Given the description of an element on the screen output the (x, y) to click on. 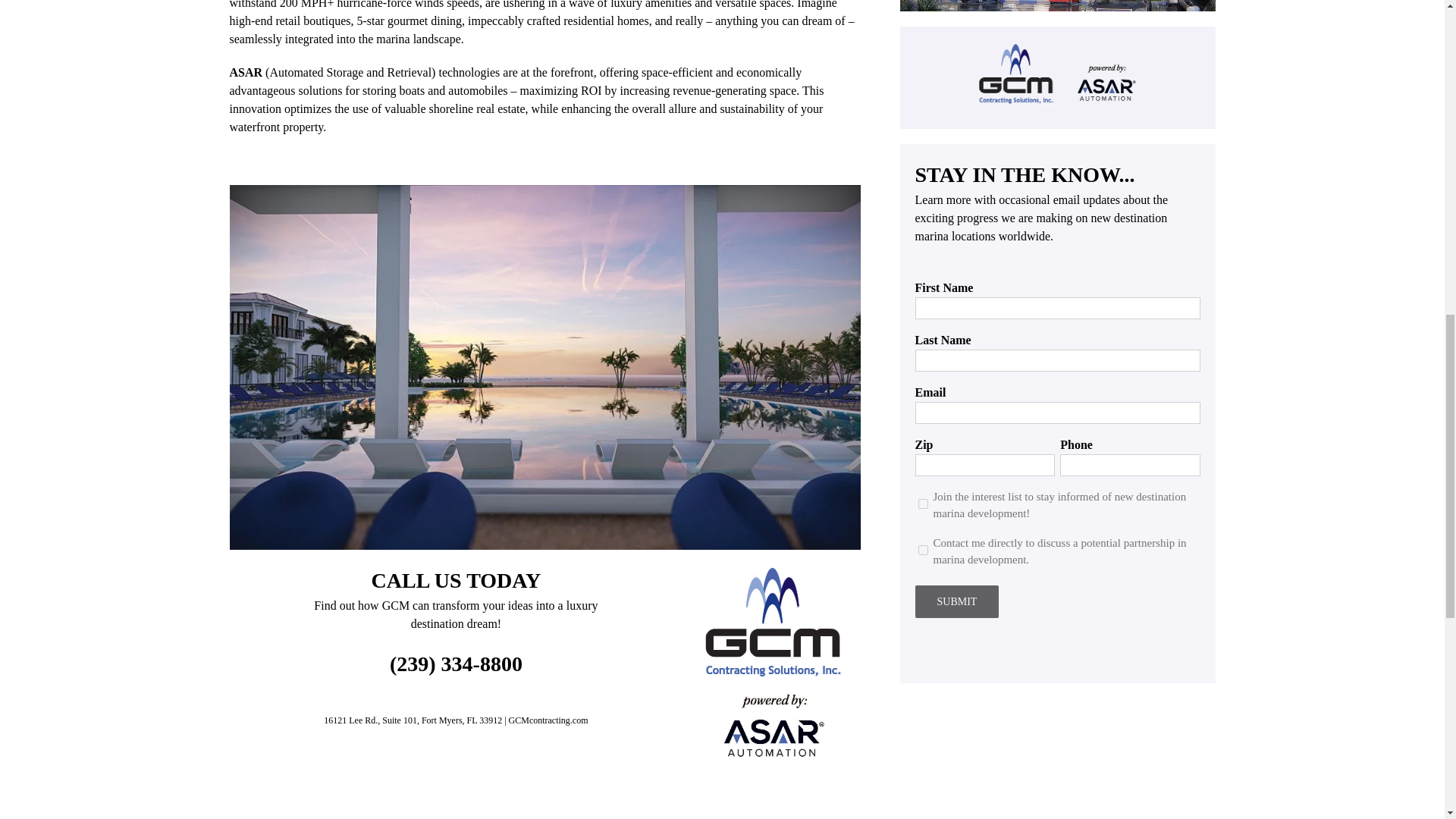
Submit (956, 601)
